Given the description of an element on the screen output the (x, y) to click on. 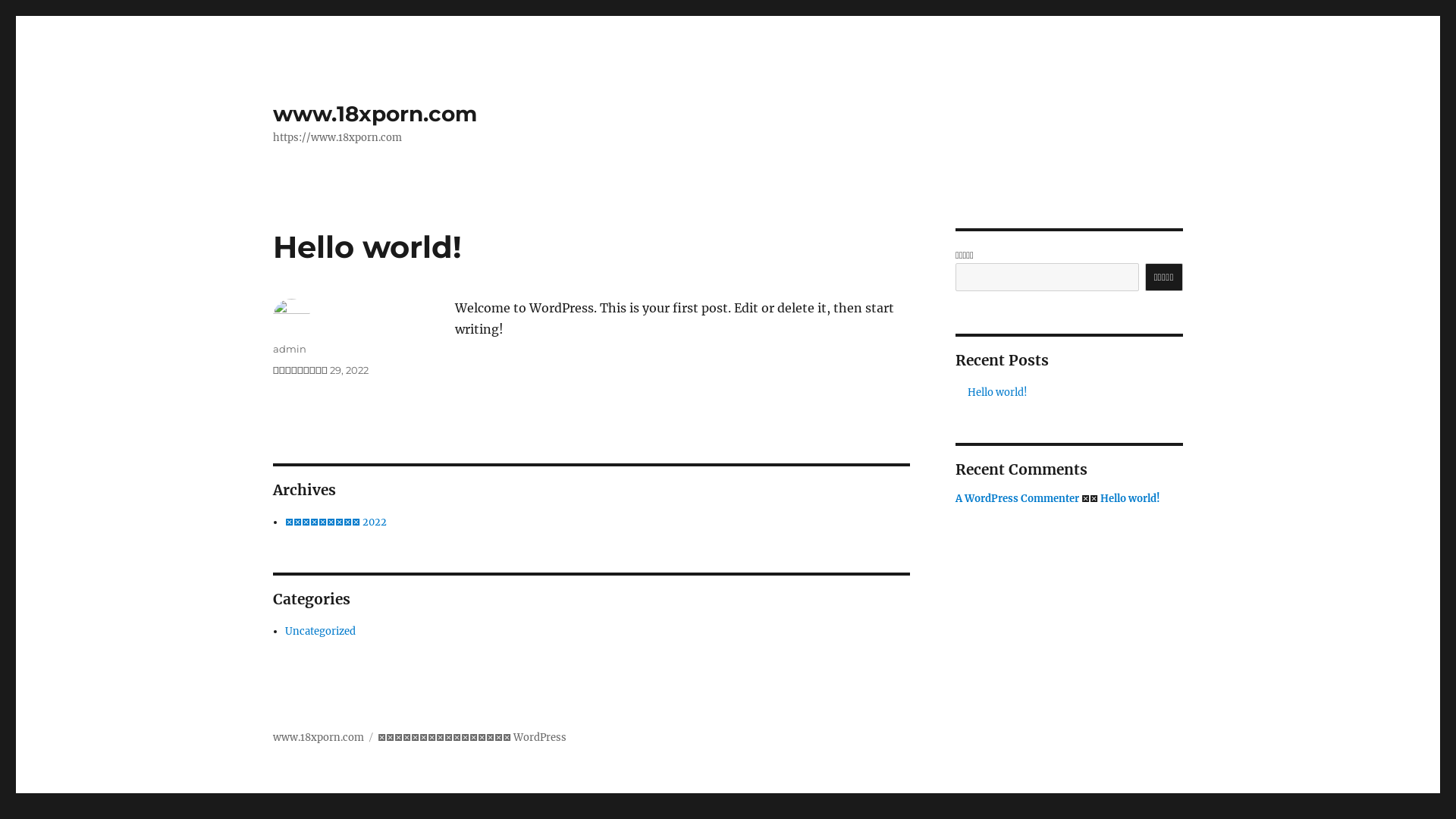
Uncategorized Element type: text (320, 630)
A WordPress Commenter Element type: text (1017, 498)
www.18xporn.com Element type: text (318, 737)
Hello world! Element type: text (997, 391)
www.18xporn.com Element type: text (374, 113)
Hello world! Element type: text (1130, 498)
admin Element type: text (289, 348)
